Given the description of an element on the screen output the (x, y) to click on. 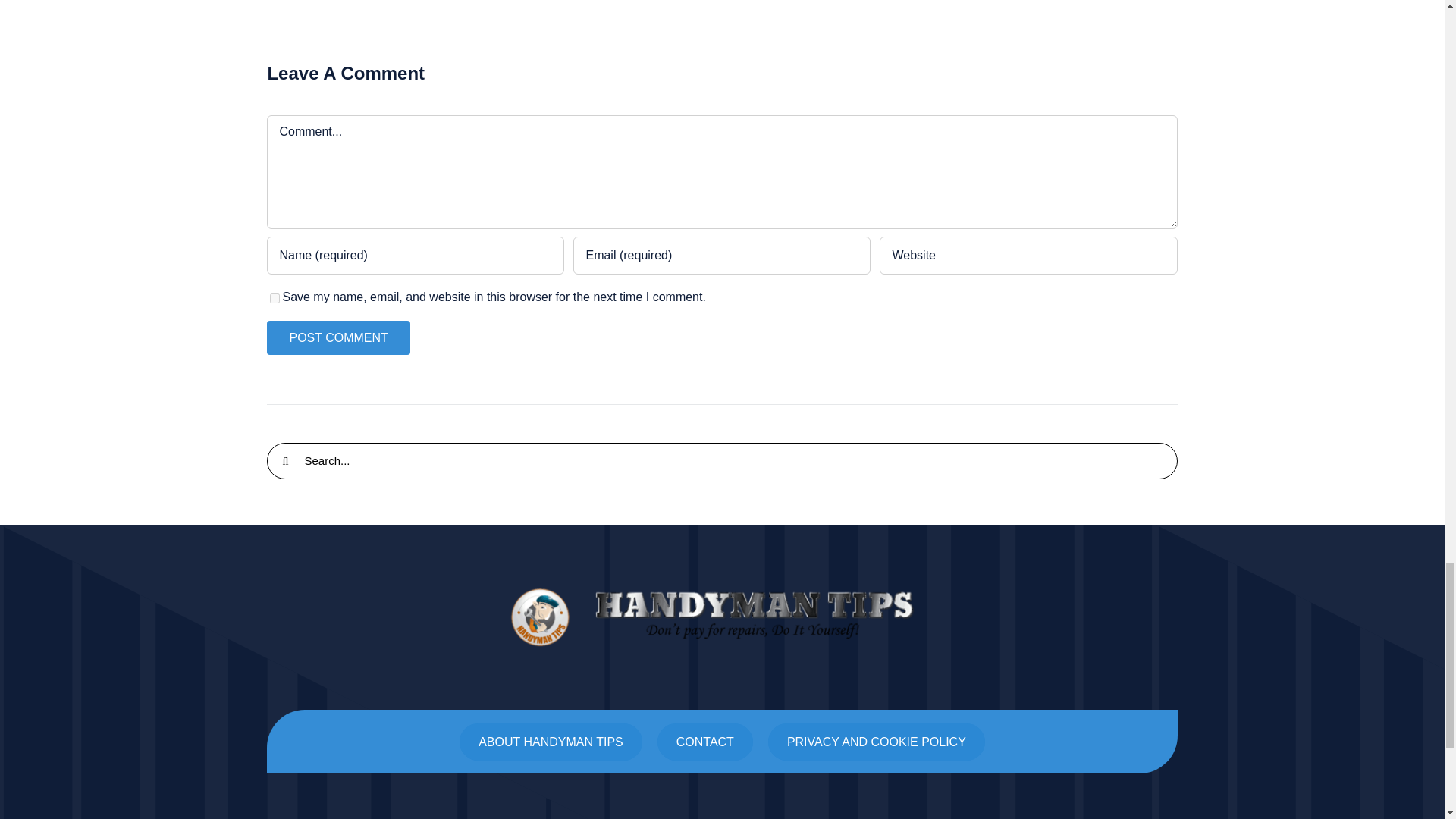
Post Comment (337, 337)
Handyman tips header new (721, 617)
yes (274, 298)
PRIVACY AND COOKIE POLICY (876, 741)
ABOUT HANDYMAN TIPS (551, 741)
Post Comment (337, 337)
CONTACT (705, 741)
